Given the description of an element on the screen output the (x, y) to click on. 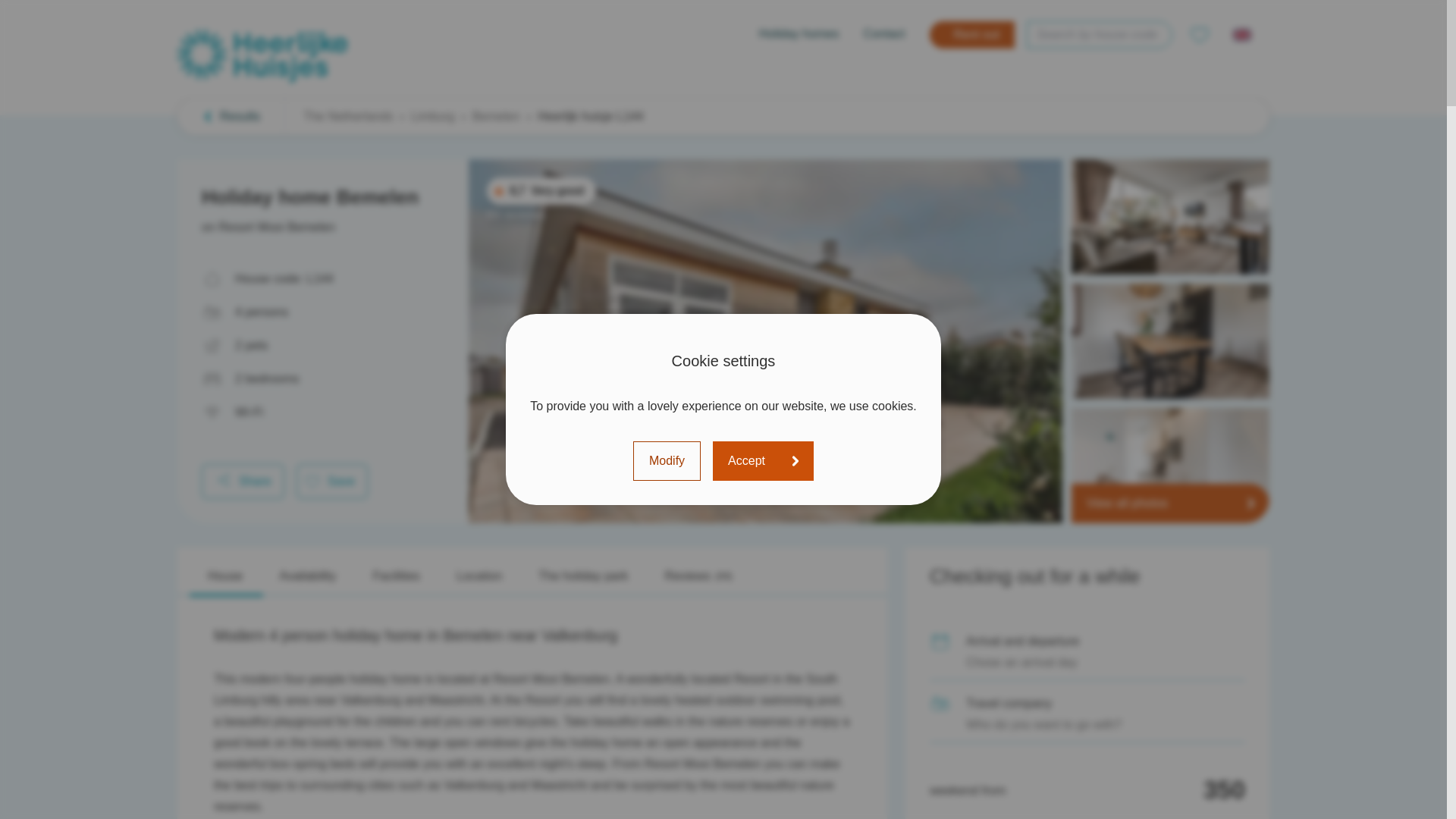
Holiday homes (799, 34)
Accept (763, 460)
View all photos (1170, 503)
Overview favourites (1199, 34)
Contact (883, 34)
Results (230, 116)
The Netherlands (347, 116)
Limburg (432, 116)
Bemelen (495, 116)
Save (332, 481)
Modify (666, 460)
Share (242, 481)
Rent out (972, 34)
